Given the description of an element on the screen output the (x, y) to click on. 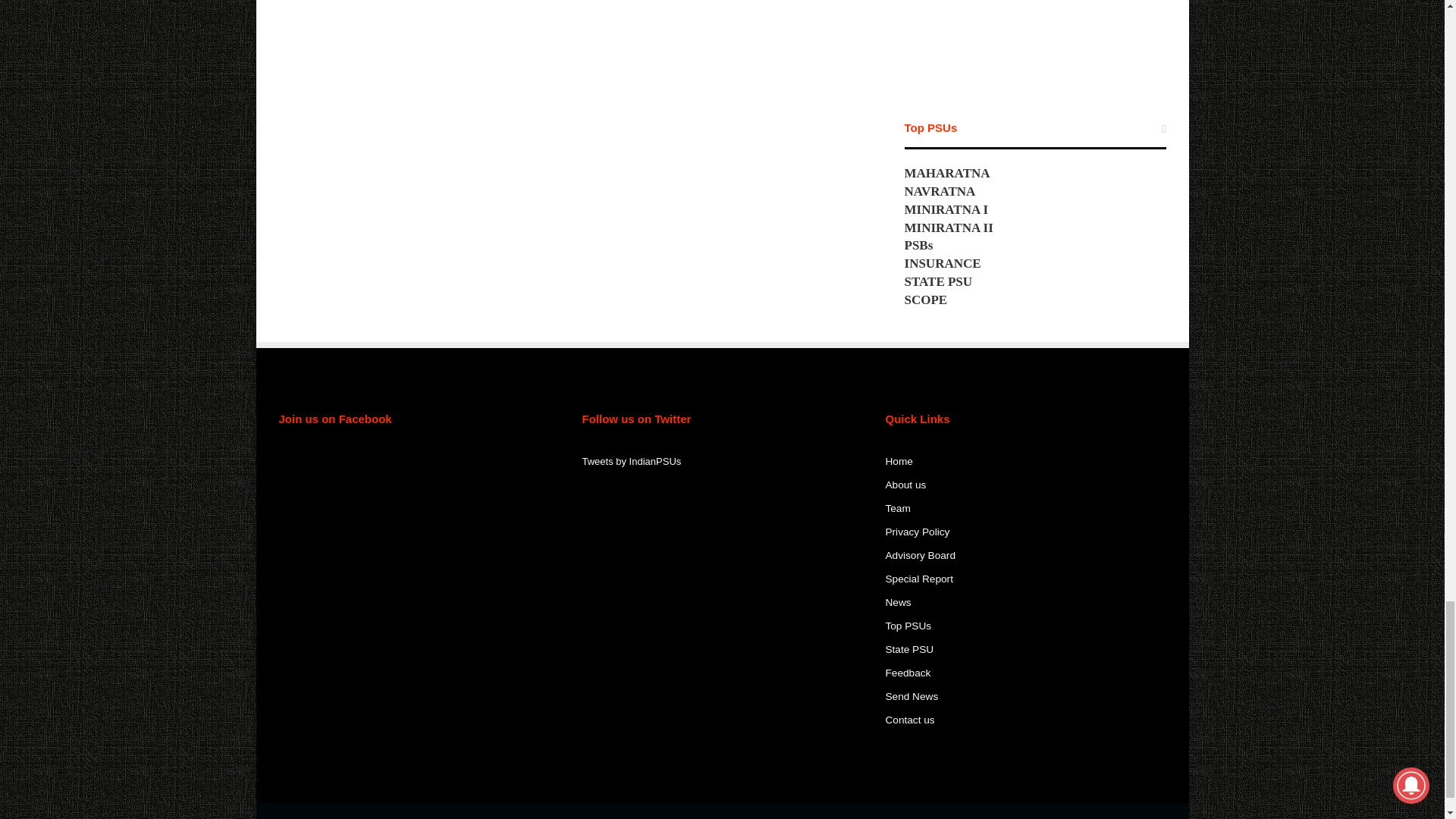
YouTube video player (1035, 40)
